Given the description of an element on the screen output the (x, y) to click on. 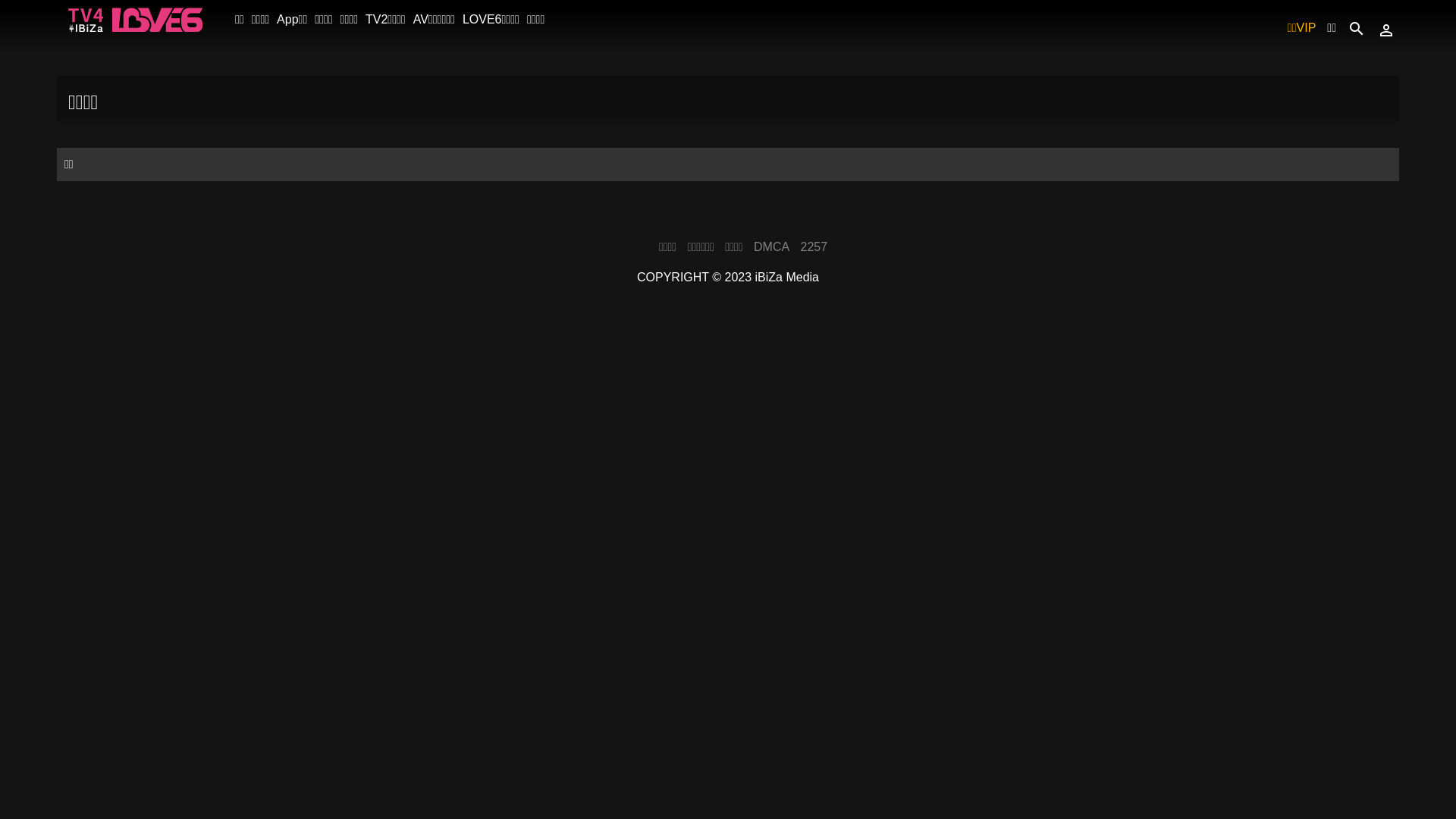
2257 Element type: text (814, 245)
DMCA Element type: text (771, 245)
search Element type: text (1356, 27)
